Given the description of an element on the screen output the (x, y) to click on. 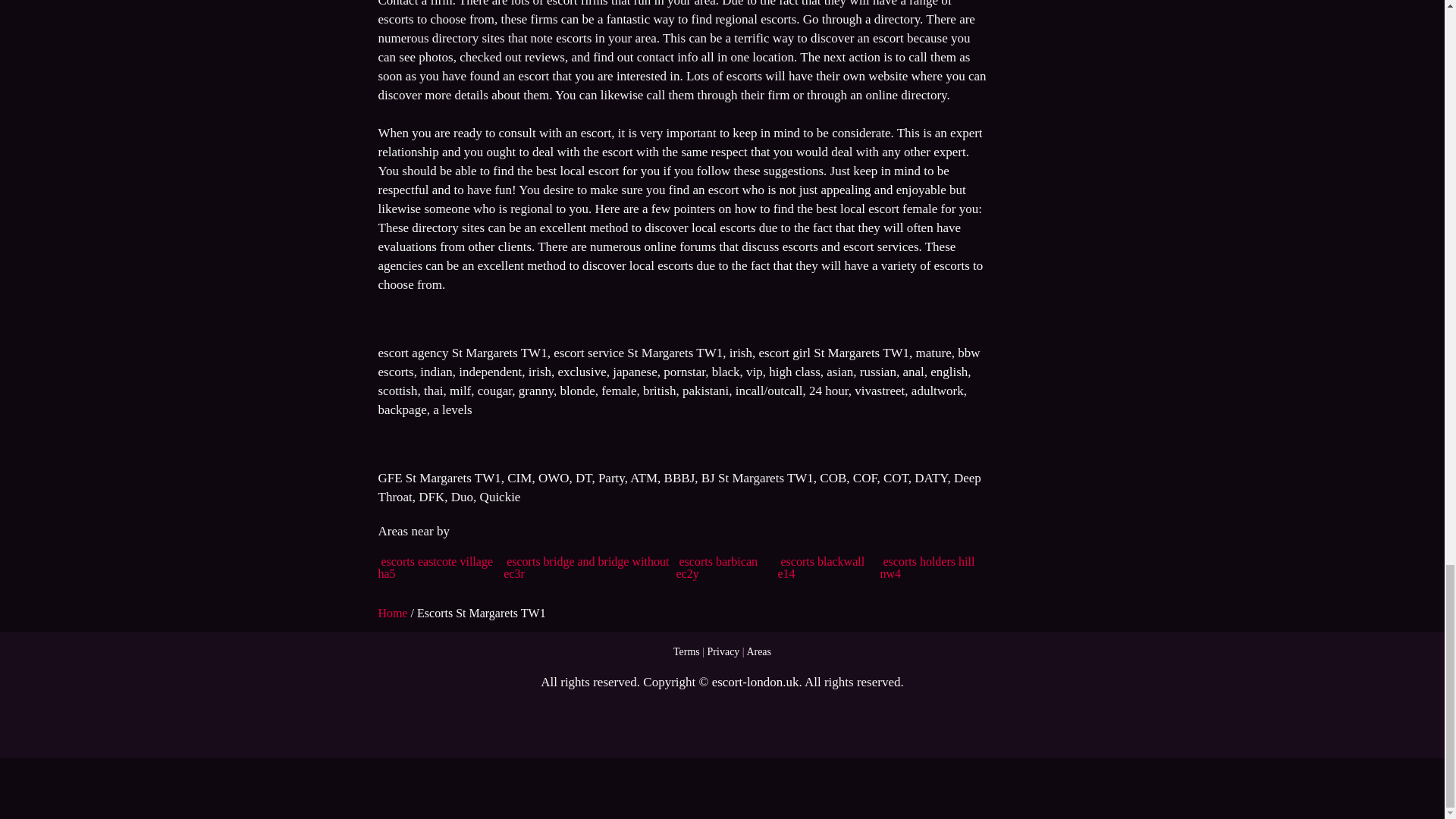
escort-london.uk (755, 681)
Areas (758, 651)
Terms (686, 651)
Areas (758, 651)
Privacy (723, 651)
escorts barbican ec2y (716, 567)
Privacy (723, 651)
escorts blackwall e14 (820, 567)
Home (393, 612)
escorts eastcote village ha5 (435, 567)
escorts holders hill nw4 (926, 567)
escort-london.uk (755, 681)
escorts bridge and bridge without ec3r (585, 567)
Terms (686, 651)
